Given the description of an element on the screen output the (x, y) to click on. 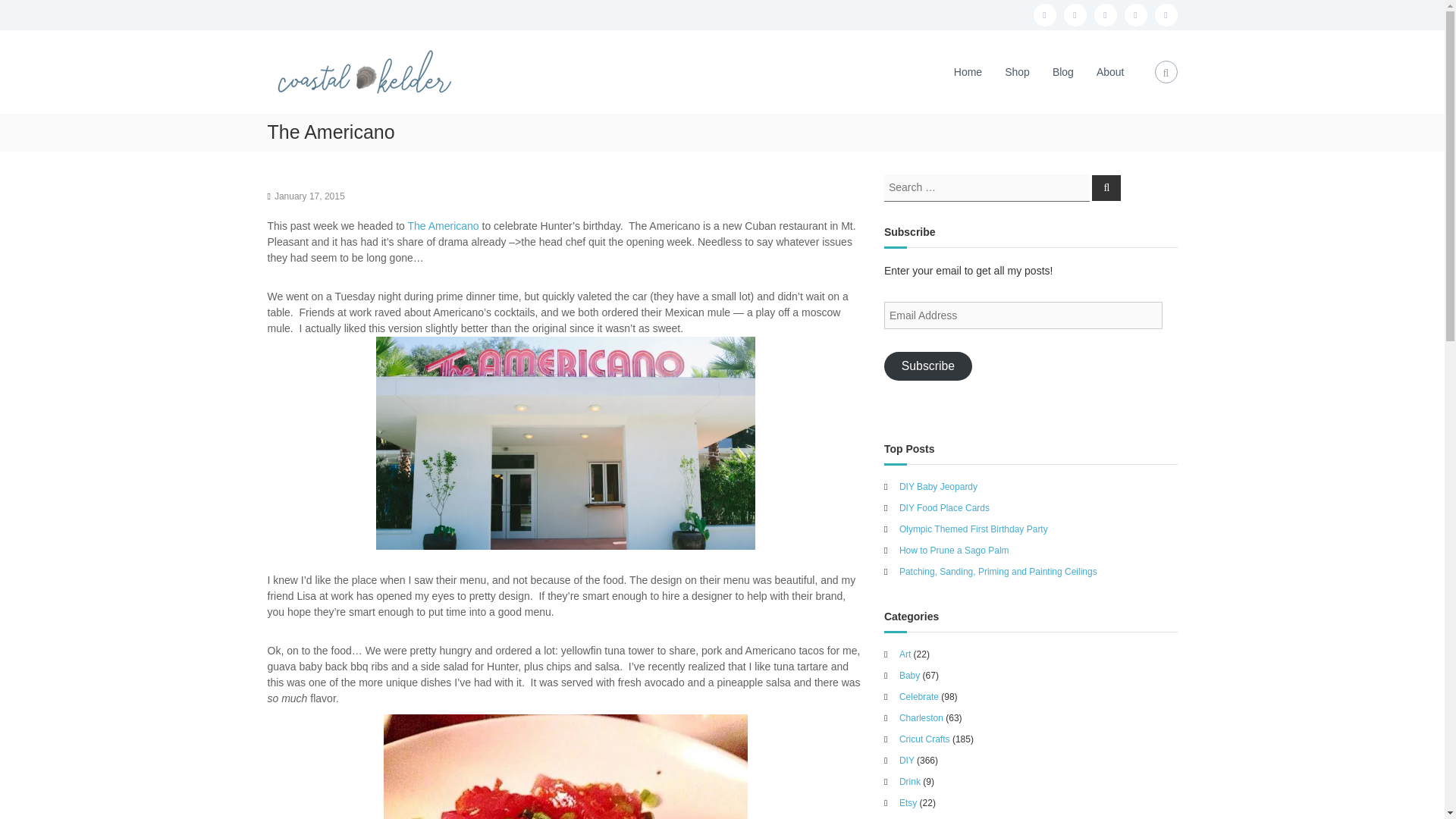
Blog (1063, 70)
Baby (909, 675)
Etsy (1165, 15)
Instagram (1074, 15)
Facebook (1043, 15)
About (1110, 70)
Pinterest (1135, 15)
Search (1106, 186)
How to Prune a Sago Palm (954, 549)
Art (905, 654)
DIY Food Place Cards (944, 507)
Subscribe (927, 366)
January 17, 2015 (310, 195)
Twitter (1104, 15)
Home (967, 70)
